Given the description of an element on the screen output the (x, y) to click on. 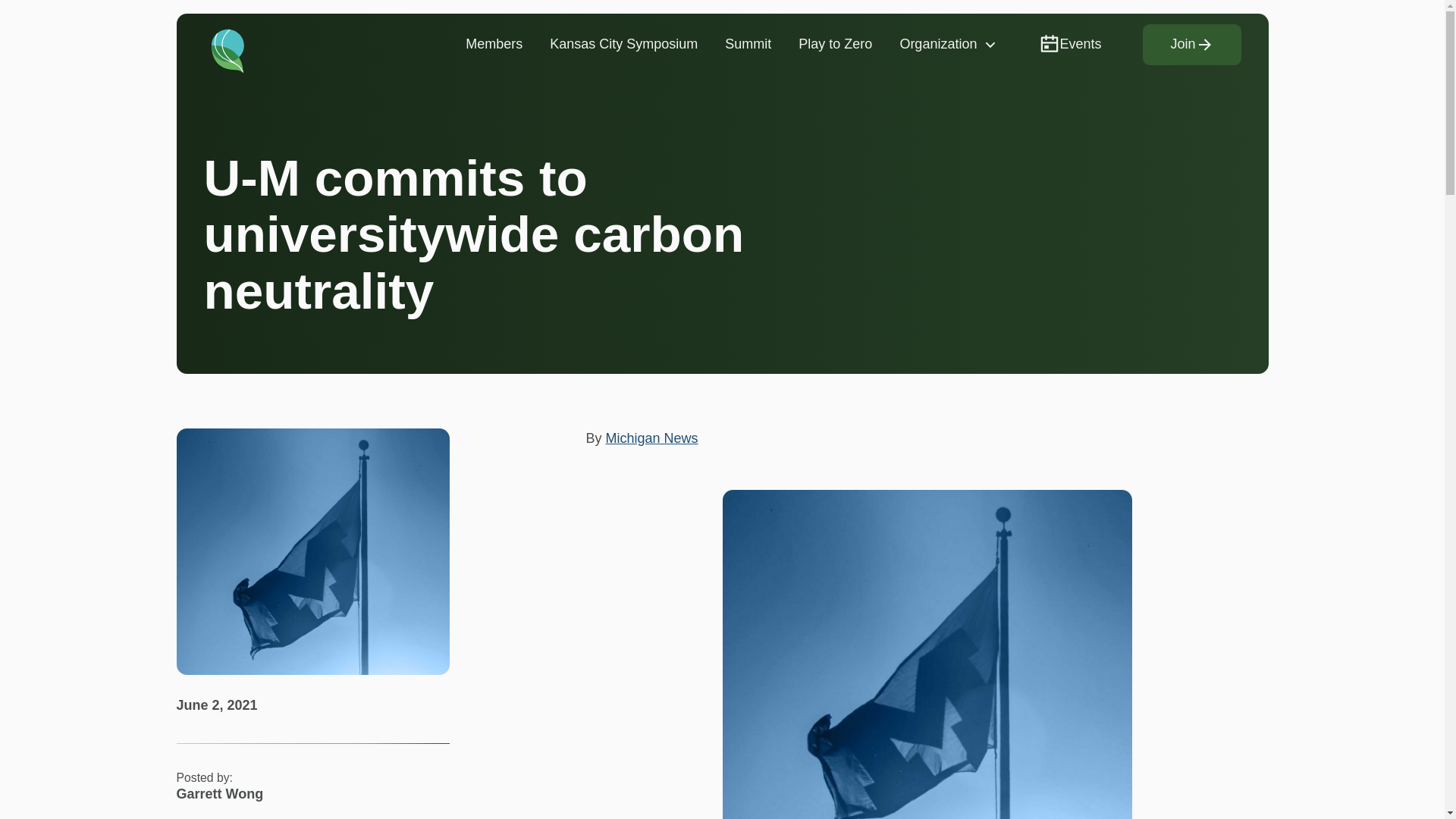
Join (1191, 44)
Michigan News (651, 437)
Play to Zero (834, 44)
Summit (747, 44)
Members (493, 44)
Kansas City Symposium (623, 44)
Events (1069, 43)
